Given the description of an element on the screen output the (x, y) to click on. 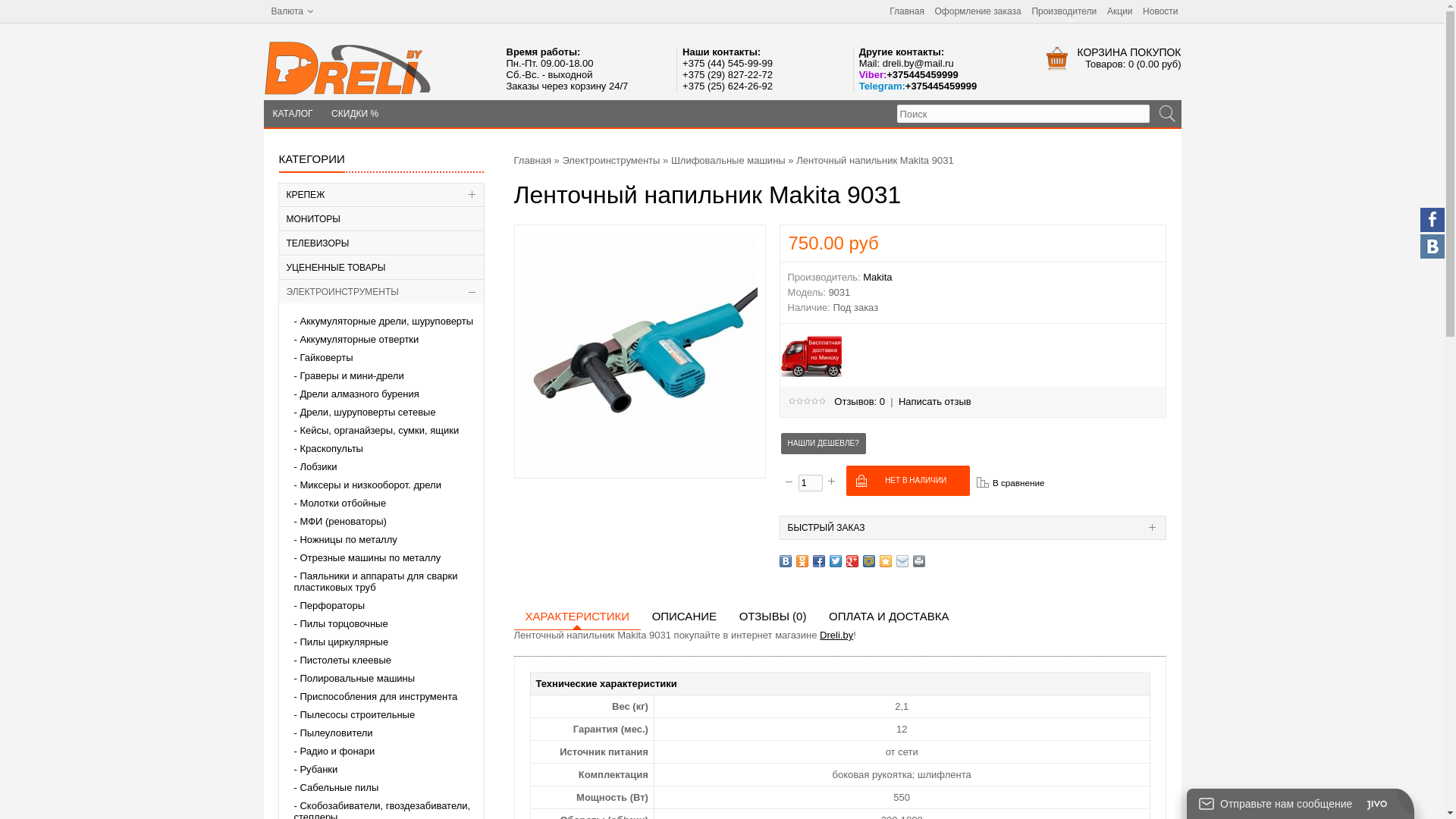
Viber:+375445459999 Element type: text (908, 74)
+375 (44) 545-99-99 Element type: text (727, 63)
Dreli.by Element type: text (836, 634)
+375 (25) 624-26-92 Element type: text (727, 85)
Makita Element type: text (876, 276)
+375 (29) 827-22-72 Element type: text (727, 74)
Telegram:+375445459999 Element type: text (918, 85)
